Given the description of an element on the screen output the (x, y) to click on. 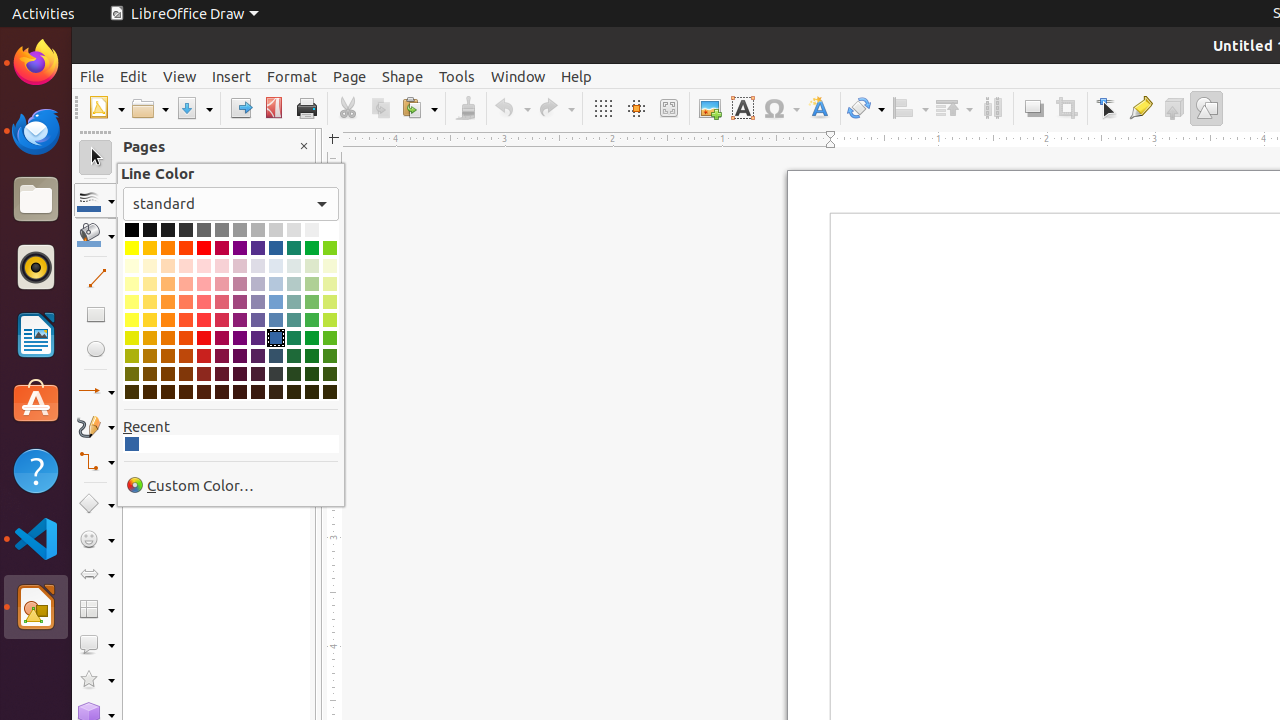
View Element type: menu (179, 76)
Line Element type: push-button (95, 278)
Lime Element type: list-item (330, 248)
Red Element type: list-item (204, 248)
Light Magenta 2 Element type: list-item (222, 302)
